Given the description of an element on the screen output the (x, y) to click on. 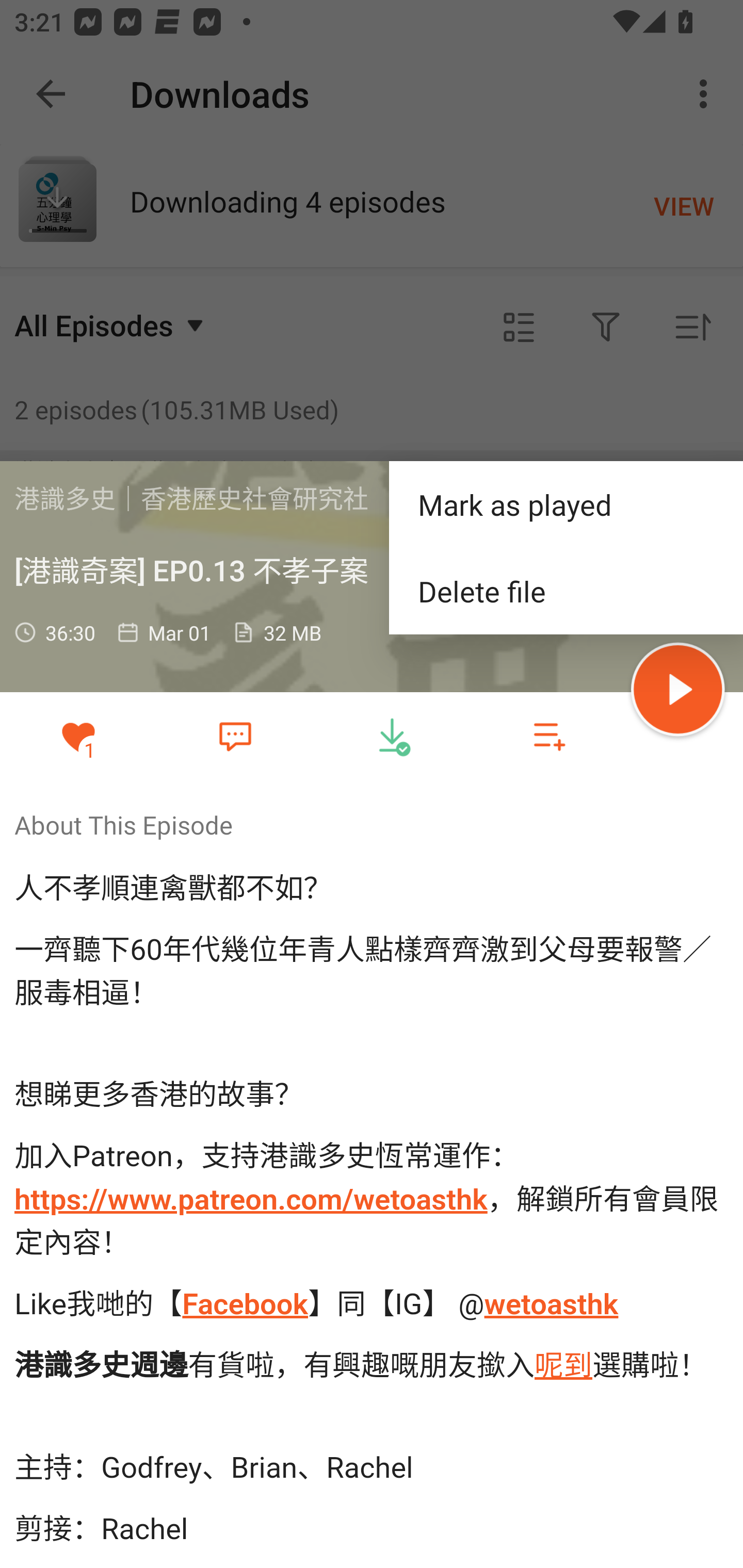
Mark as played (566, 503)
Delete file (566, 591)
